Given the description of an element on the screen output the (x, y) to click on. 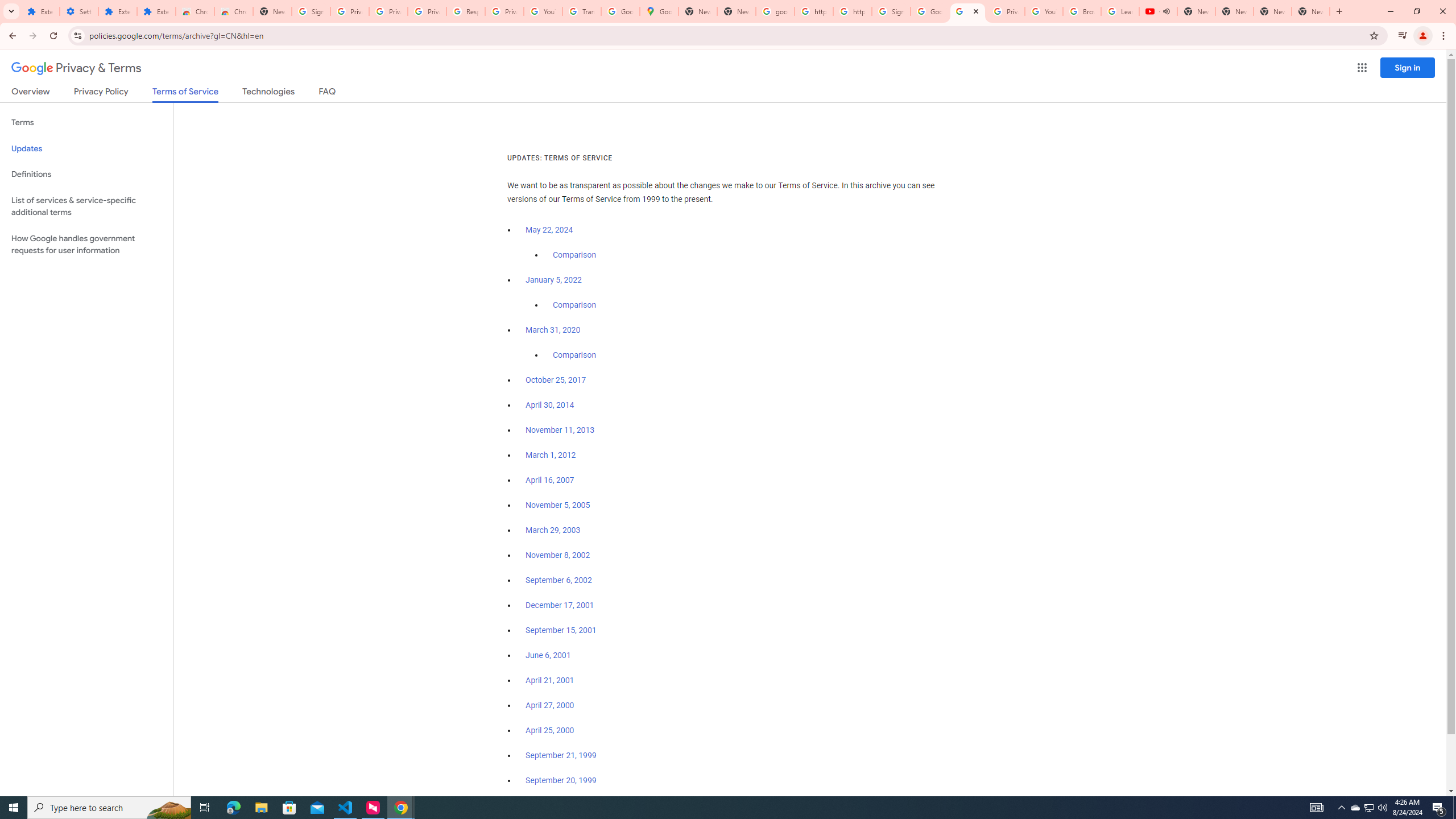
https://scholar.google.com/ (852, 11)
October 25, 2017 (555, 380)
March 31, 2020 (552, 330)
